Given the description of an element on the screen output the (x, y) to click on. 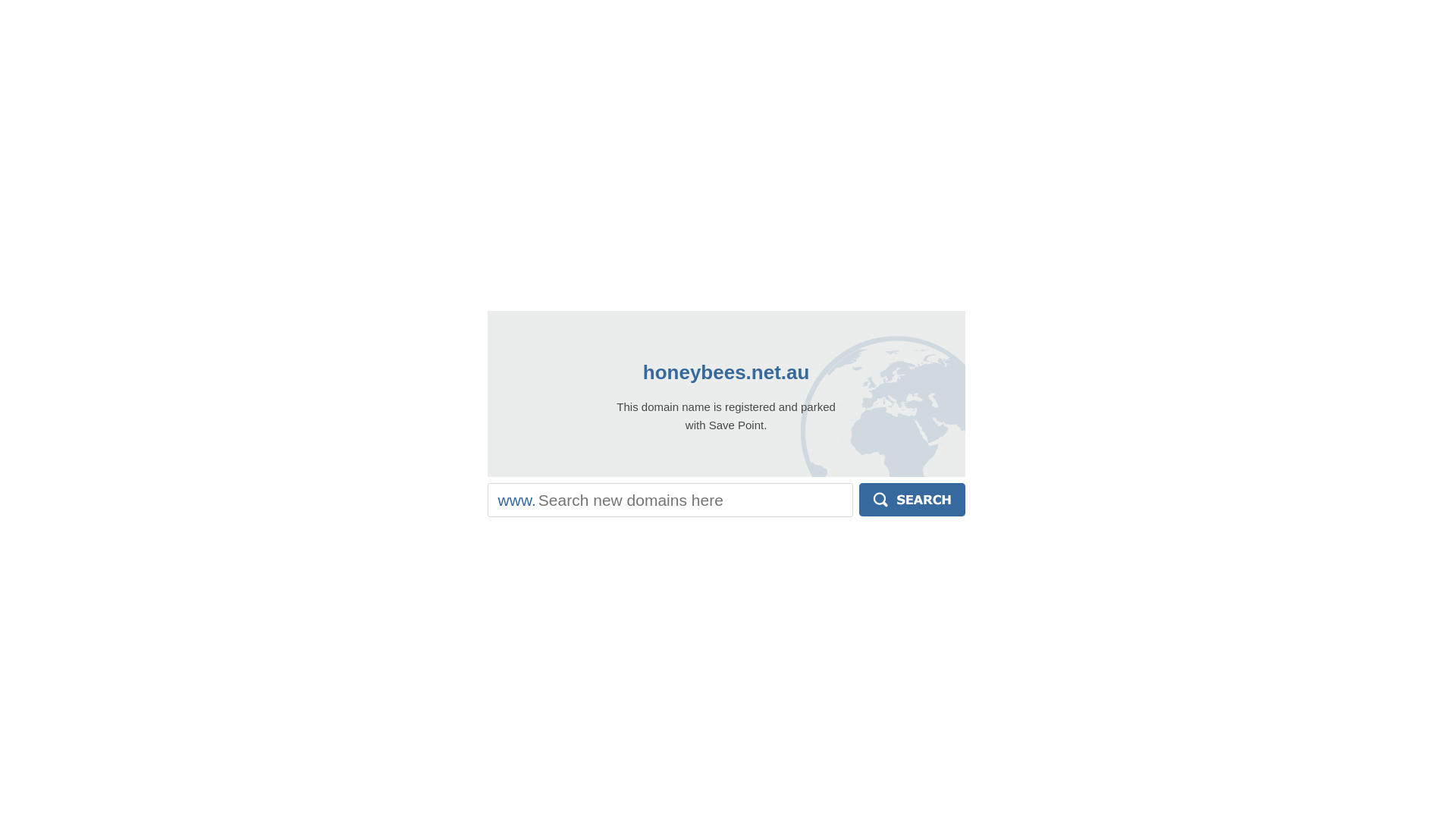
Search Element type: text (912, 499)
